Given the description of an element on the screen output the (x, y) to click on. 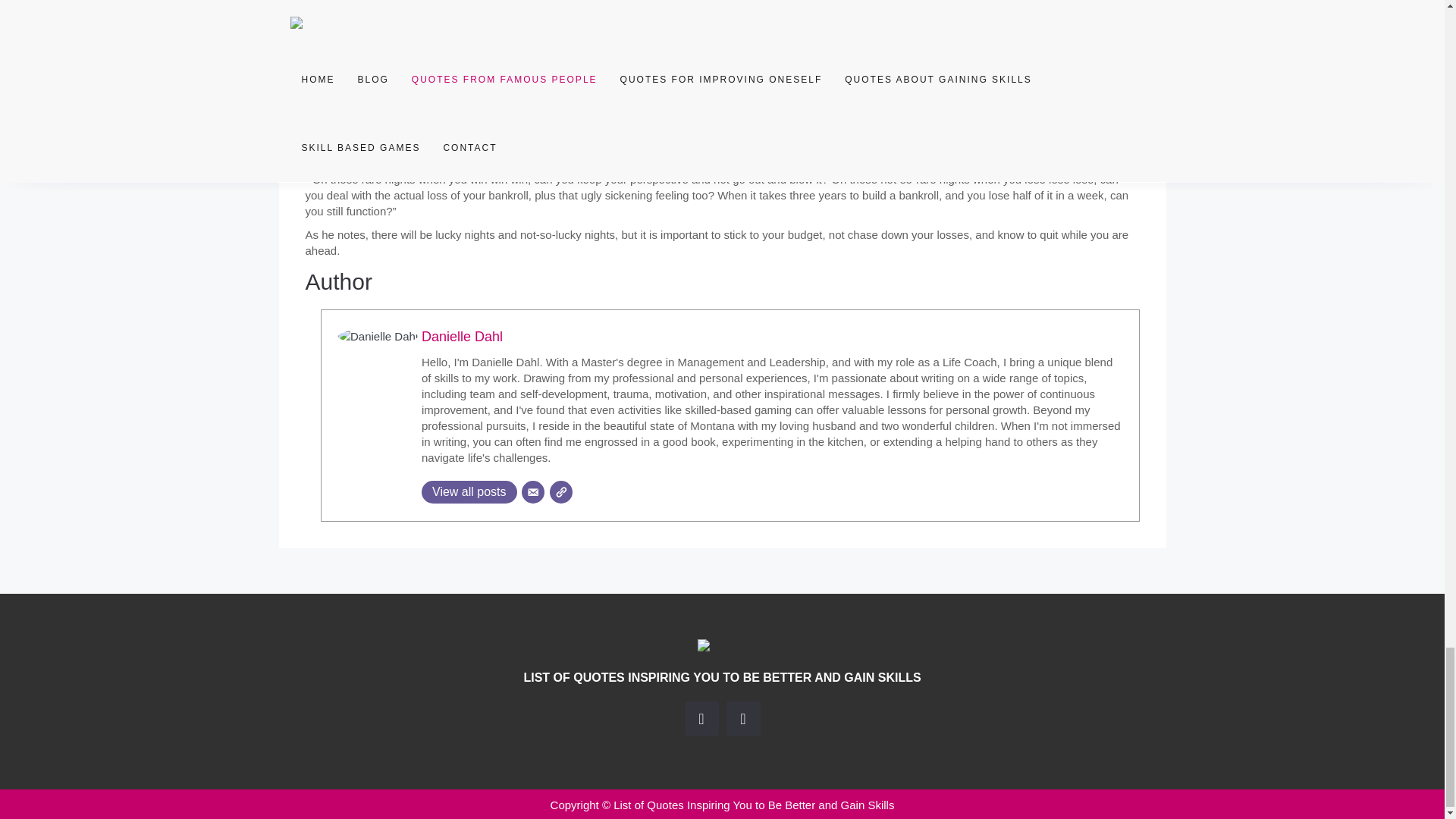
View all posts (469, 491)
Danielle Dahl (462, 336)
View all posts (469, 491)
Danielle Dahl (462, 336)
